Given the description of an element on the screen output the (x, y) to click on. 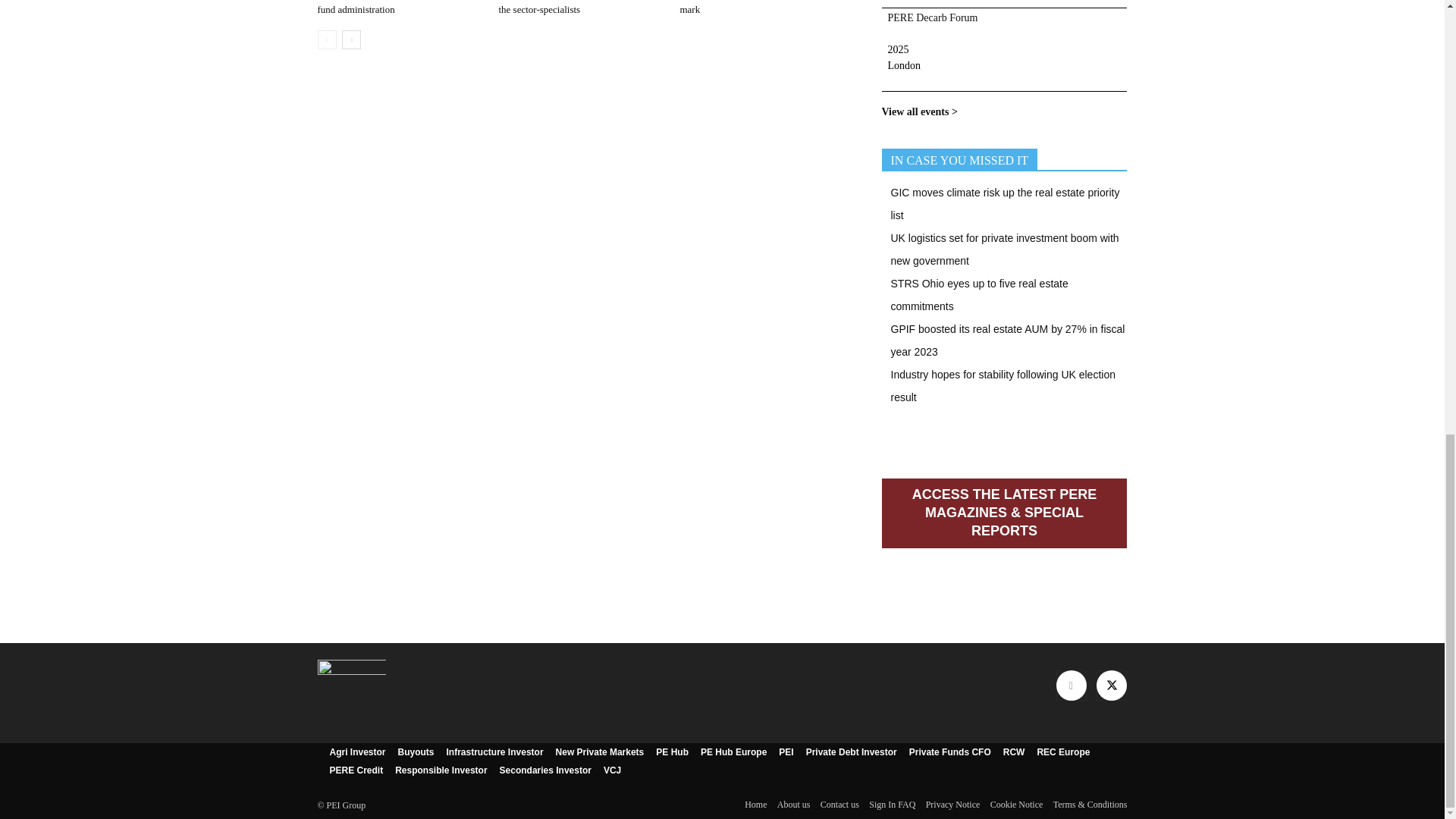
Alter Domus on the shifting sands of fund administration (390, 7)
Digital matchmakers can make their mark (750, 7)
Linkedin (1071, 685)
Deep Dive: Why 2024 looks bright for the sector-specialists (573, 7)
Twitter (1111, 685)
